Given the description of an element on the screen output the (x, y) to click on. 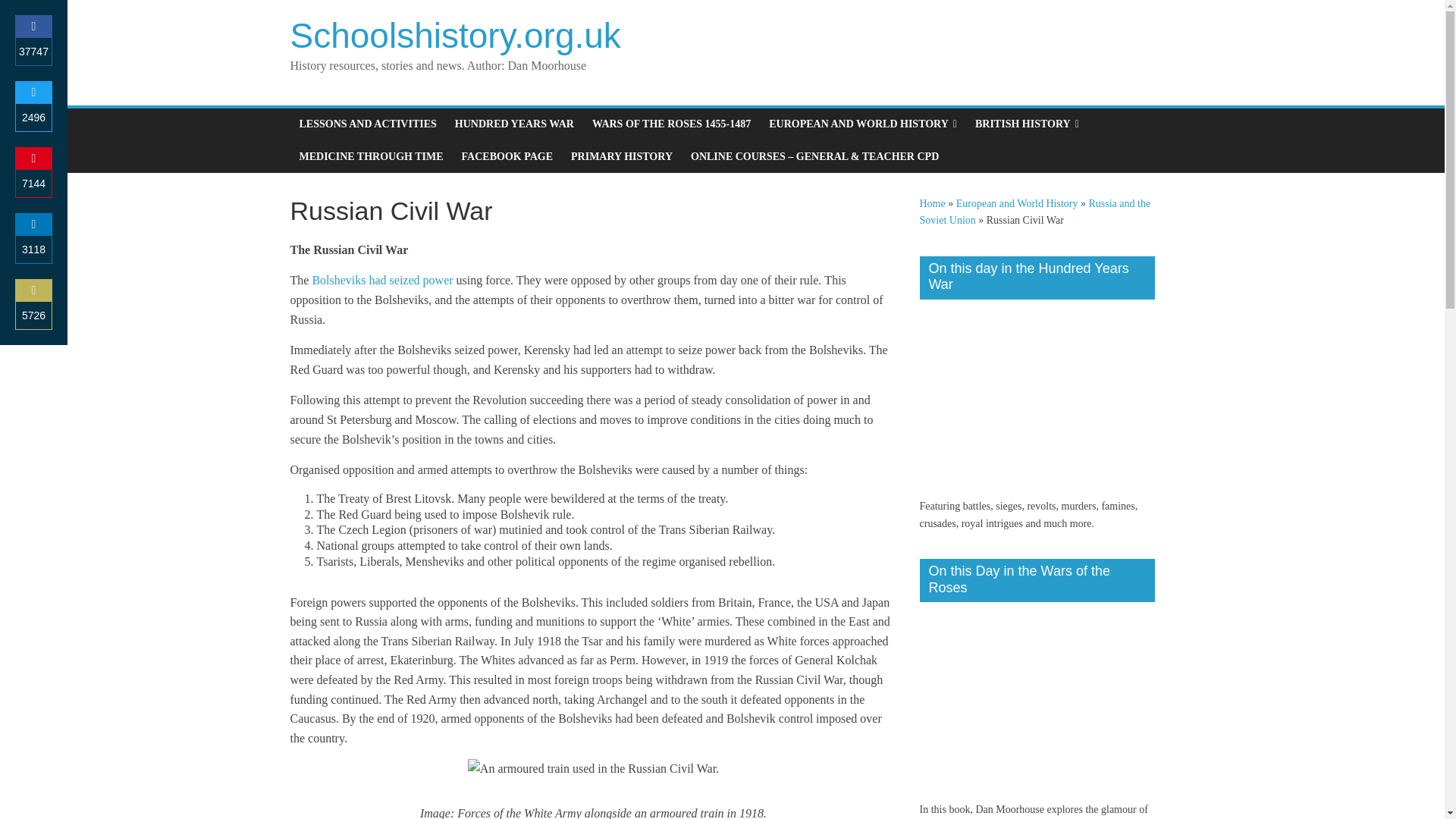
Russia and the Soviet Union (1034, 212)
European and World History (1017, 203)
HUNDRED YEARS WAR (514, 124)
WARS OF THE ROSES 1455-1487 (671, 124)
Schoolshistory.org.uk (454, 35)
PRIMARY HISTORY (621, 156)
EUROPEAN AND WORLD HISTORY (863, 124)
FACEBOOK PAGE (507, 156)
MEDICINE THROUGH TIME (370, 156)
LESSONS AND ACTIVITIES (367, 124)
Schoolshistory.org.uk (454, 35)
Bolsheviks had seized power (381, 279)
BRITISH HISTORY (1026, 124)
Home (931, 203)
